Given the description of an element on the screen output the (x, y) to click on. 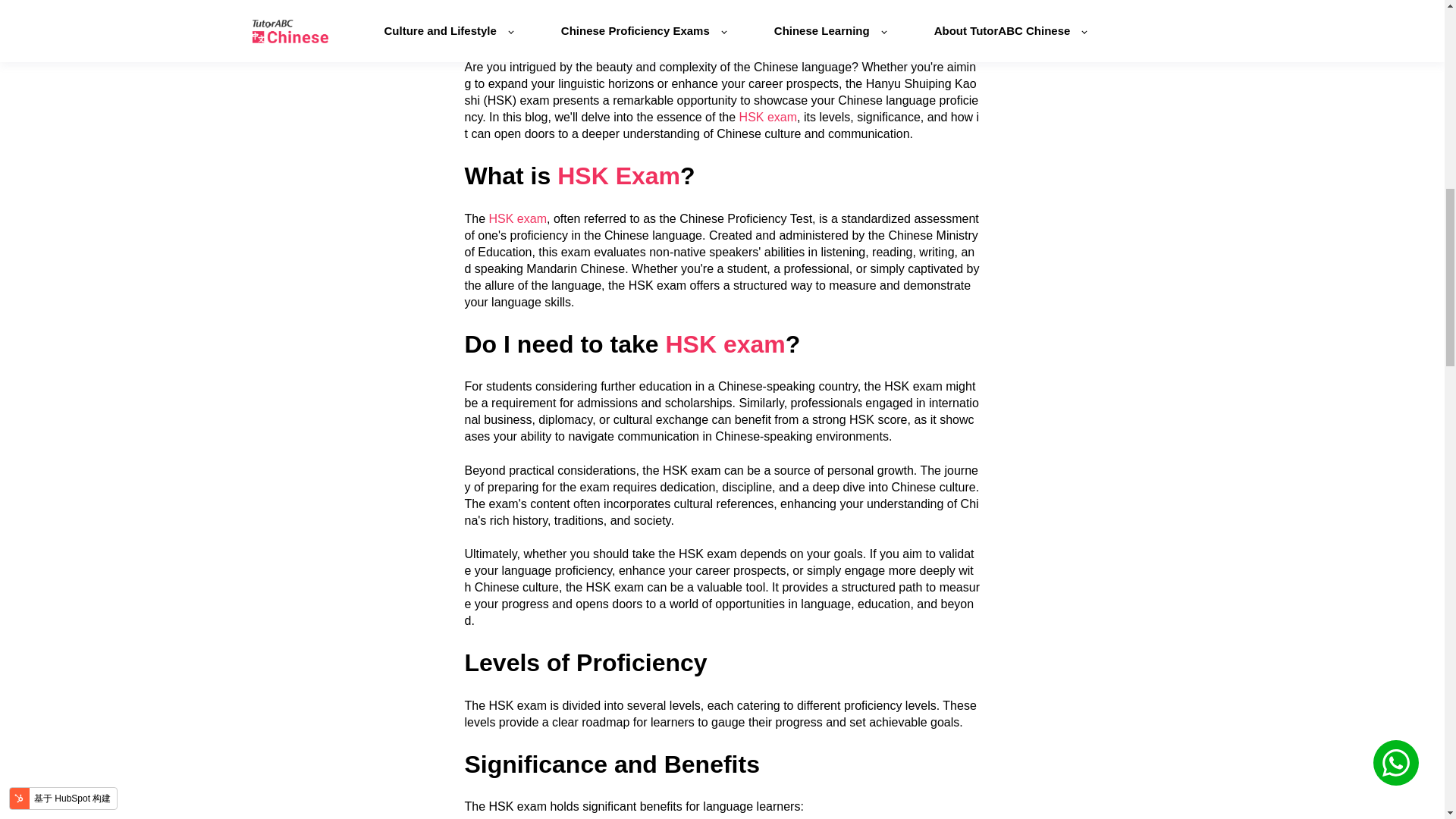
HSK Exam (618, 175)
HSK exam (767, 116)
HSK exam (518, 218)
HSK exam (724, 343)
